Given the description of an element on the screen output the (x, y) to click on. 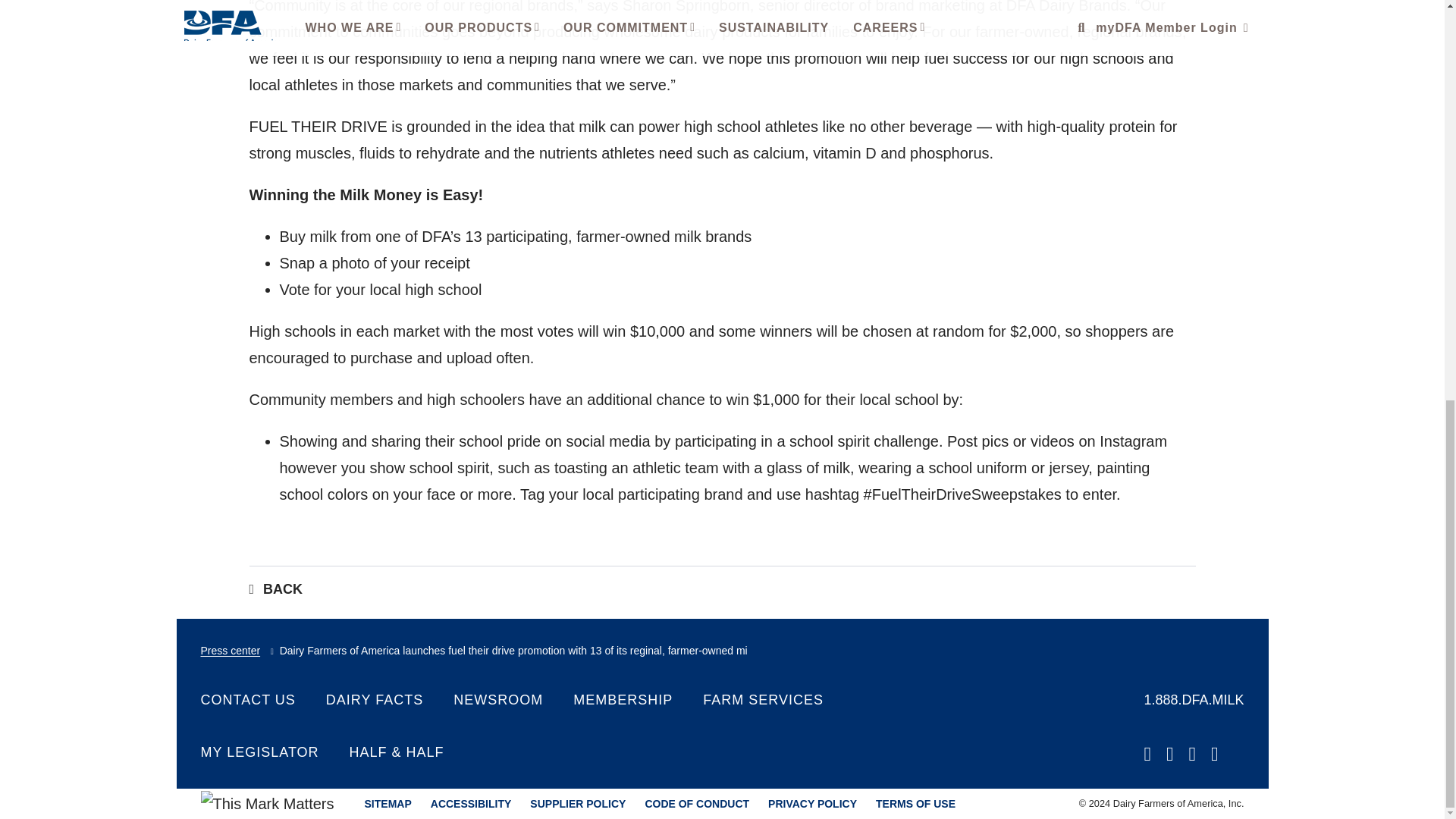
SITEMAP (388, 803)
NEWSROOM (497, 700)
Press center (230, 655)
ACCESSIBILITY (471, 803)
SUPPLIER POLICY (577, 803)
1.888.DFA.MILK (1192, 700)
MY LEGISLATOR (259, 752)
FARM SERVICES (763, 700)
CONTACT US (247, 700)
DAIRY FACTS (374, 700)
